Given the description of an element on the screen output the (x, y) to click on. 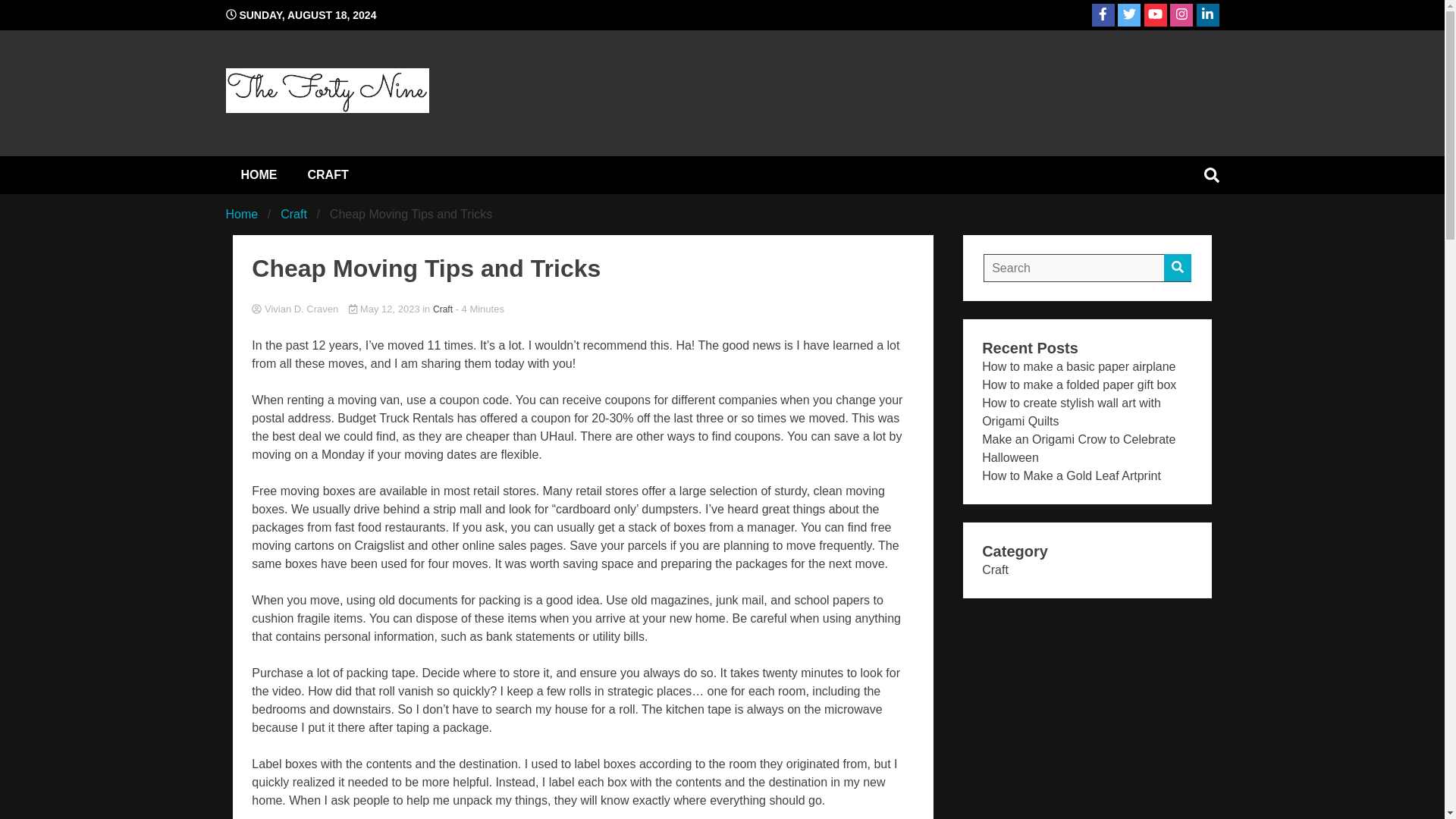
May 12, 2023 (385, 308)
CRAFT (328, 175)
How to make a folded paper gift box (1078, 384)
Craft (442, 309)
HOME (258, 175)
Vivian D. Craven (582, 309)
Home (242, 214)
Estimated Reading Time of Article (479, 308)
Craft (294, 214)
How to create stylish wall art with Origami Quilts (1070, 411)
